Given the description of an element on the screen output the (x, y) to click on. 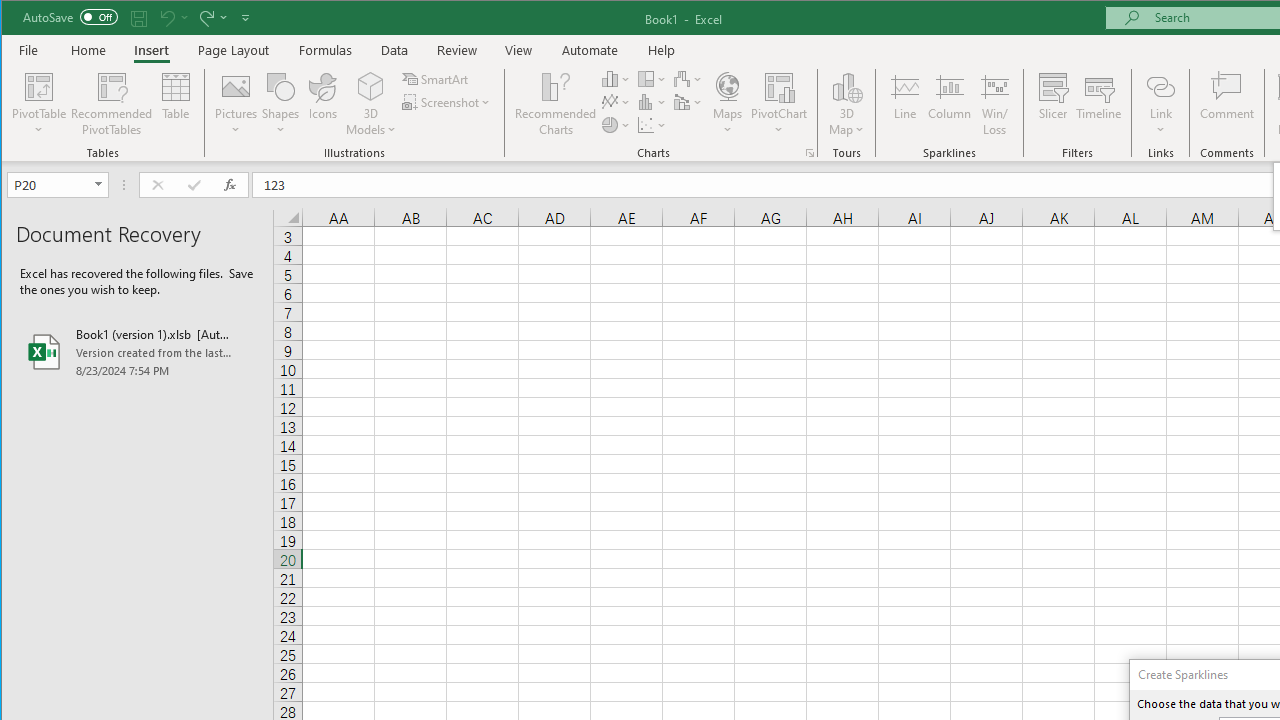
Link (1160, 104)
Insert Combo Chart (688, 101)
3D Models (371, 86)
Book1 (version 1).xlsb  [AutoRecovered] (137, 352)
3D Map (846, 86)
Slicer... (1052, 104)
Insert Line or Area Chart (616, 101)
Recommended PivotTables (111, 104)
Insert Pie or Doughnut Chart (616, 124)
